Given the description of an element on the screen output the (x, y) to click on. 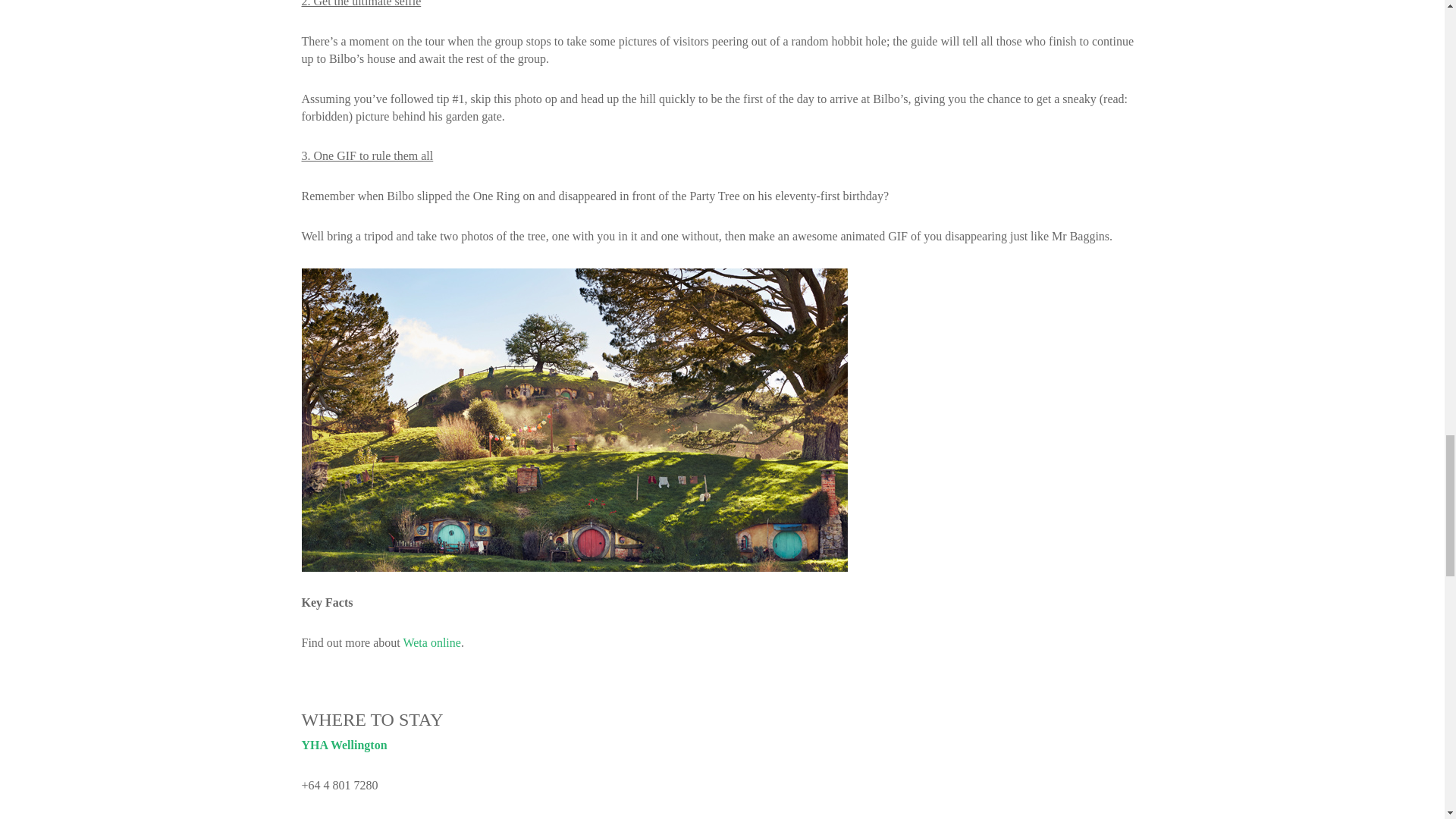
YHA Wellington (344, 744)
Weta online (431, 642)
